Given the description of an element on the screen output the (x, y) to click on. 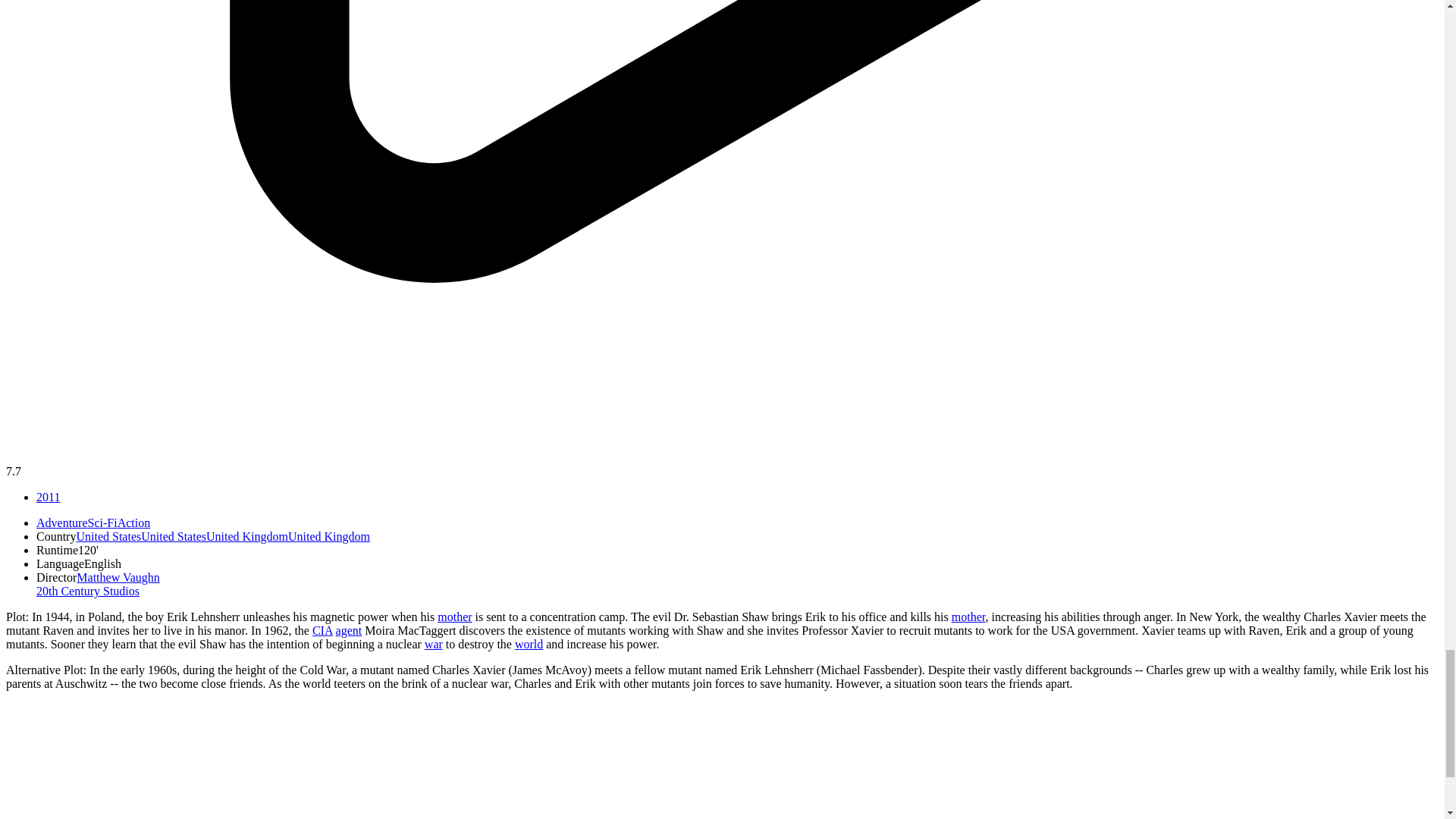
United States (140, 535)
2011 (47, 496)
United Kingdom (287, 535)
Matthew Vaughn (117, 576)
20th Century Studios (87, 590)
